Given the description of an element on the screen output the (x, y) to click on. 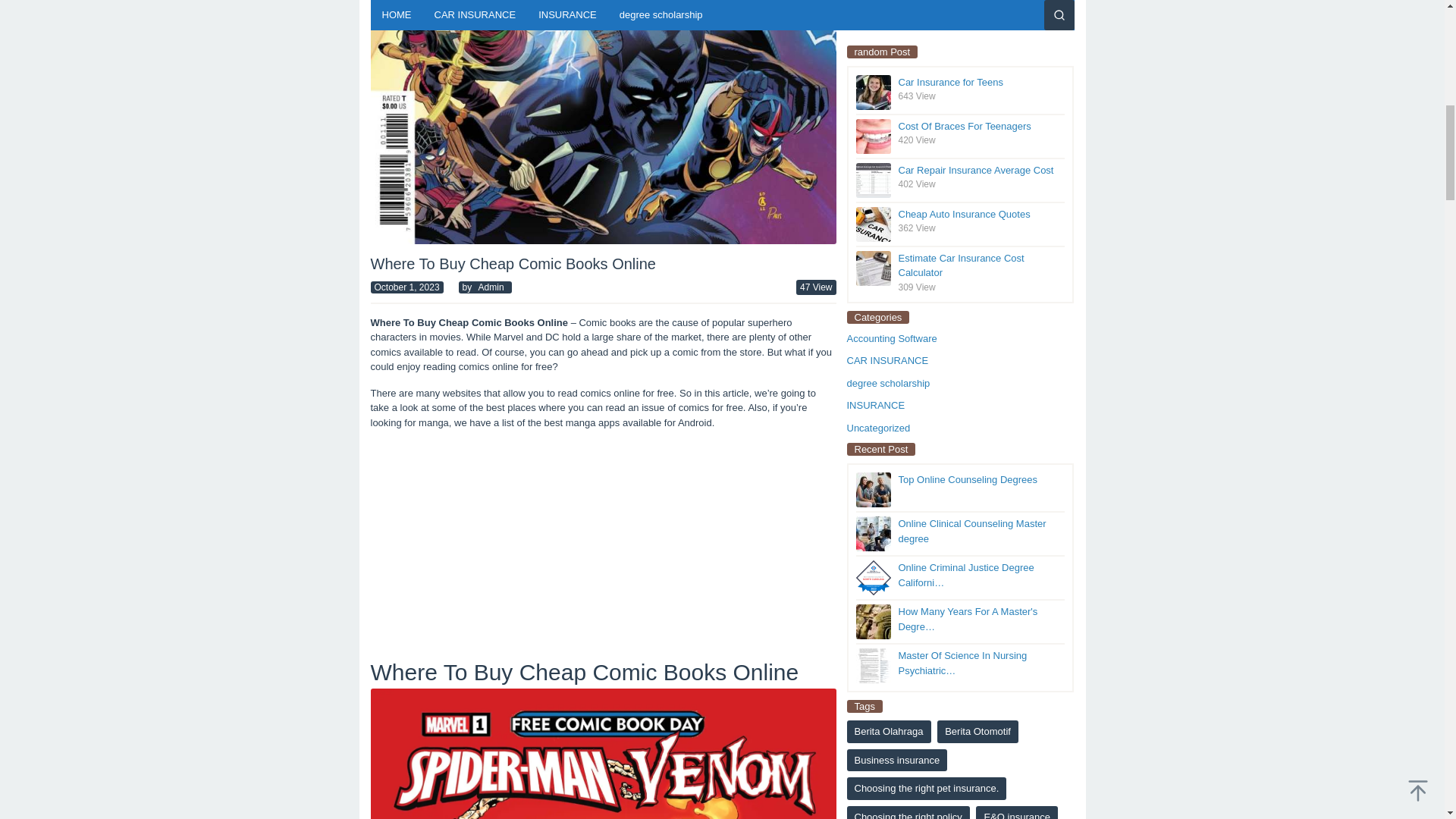
Permalink to: admin (491, 287)
Admin (491, 287)
Where To Buy Cheap Comic Books Online (602, 753)
